Given the description of an element on the screen output the (x, y) to click on. 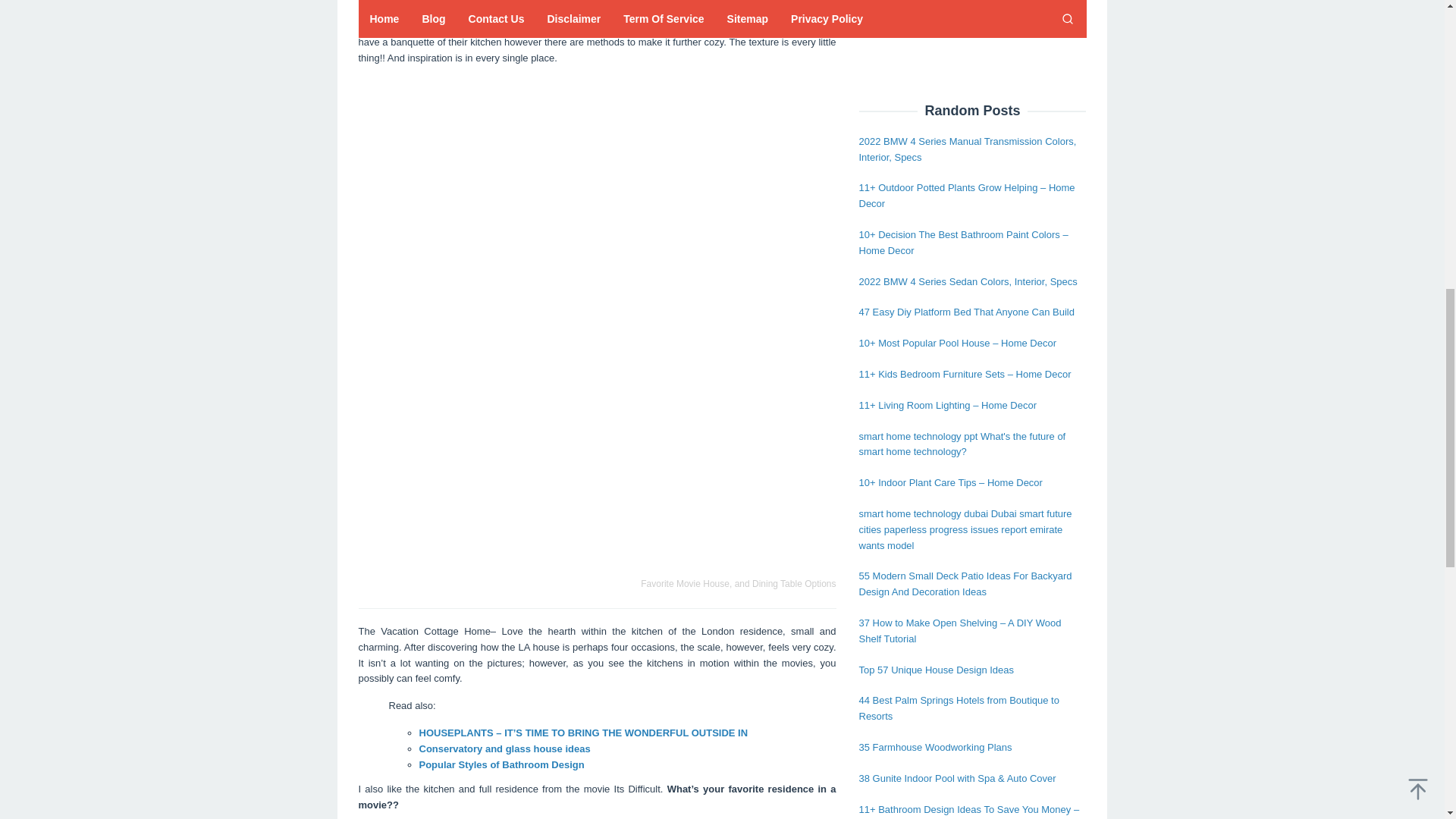
Popular Styles of Bathroom Design (501, 764)
Conservatory and glass house ideas (504, 748)
